Given the description of an element on the screen output the (x, y) to click on. 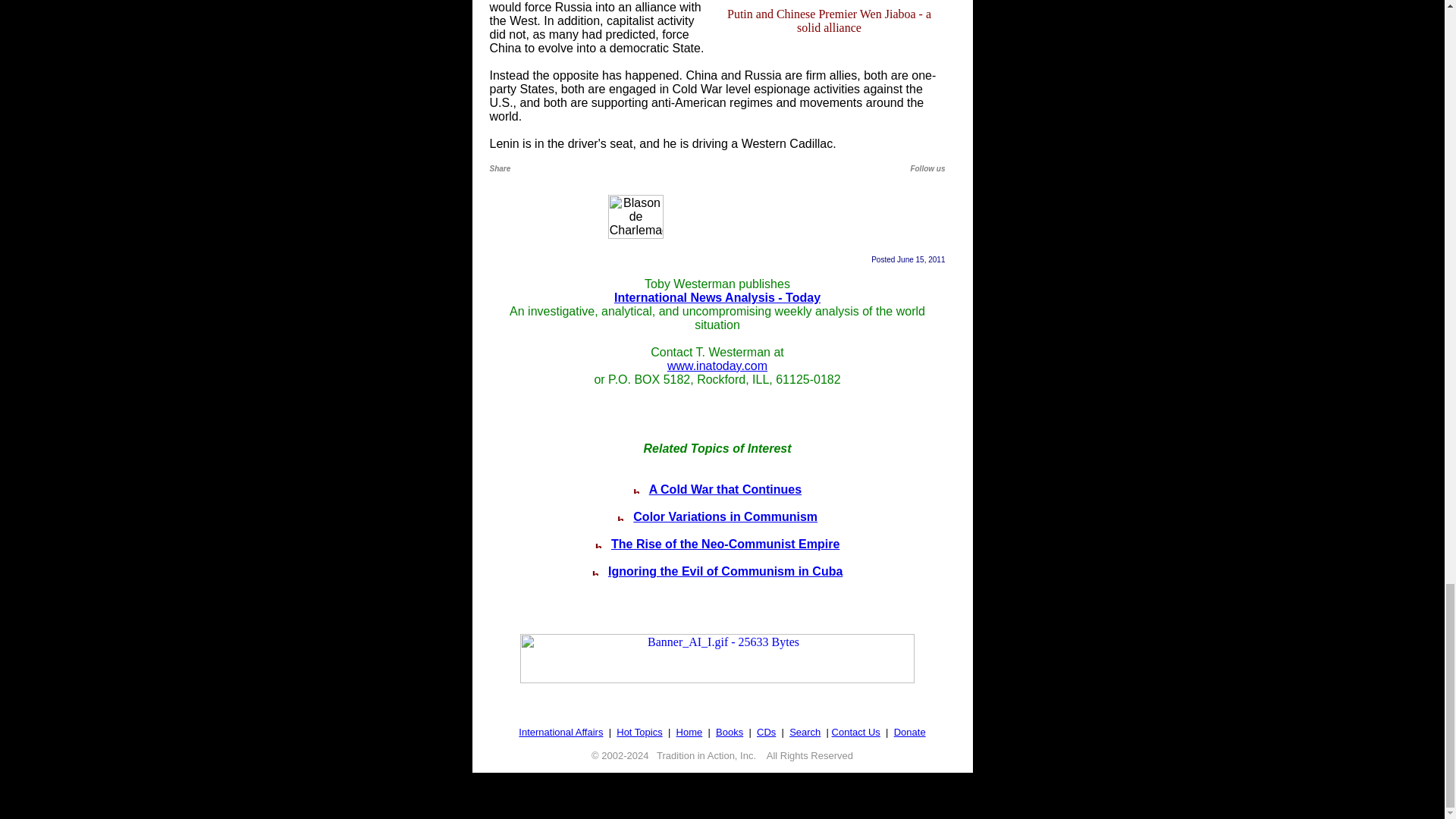
The Rise of the Neo-Communist Empire (725, 543)
Donate (909, 731)
International News Analysis - Today (717, 297)
International Affairs (560, 731)
Hot Topics (638, 731)
www.inatoday.com (716, 365)
Ignoring the Evil of Communism in Cuba (725, 571)
Books (729, 731)
Home (690, 731)
A Cold War that Continues (725, 489)
